Given the description of an element on the screen output the (x, y) to click on. 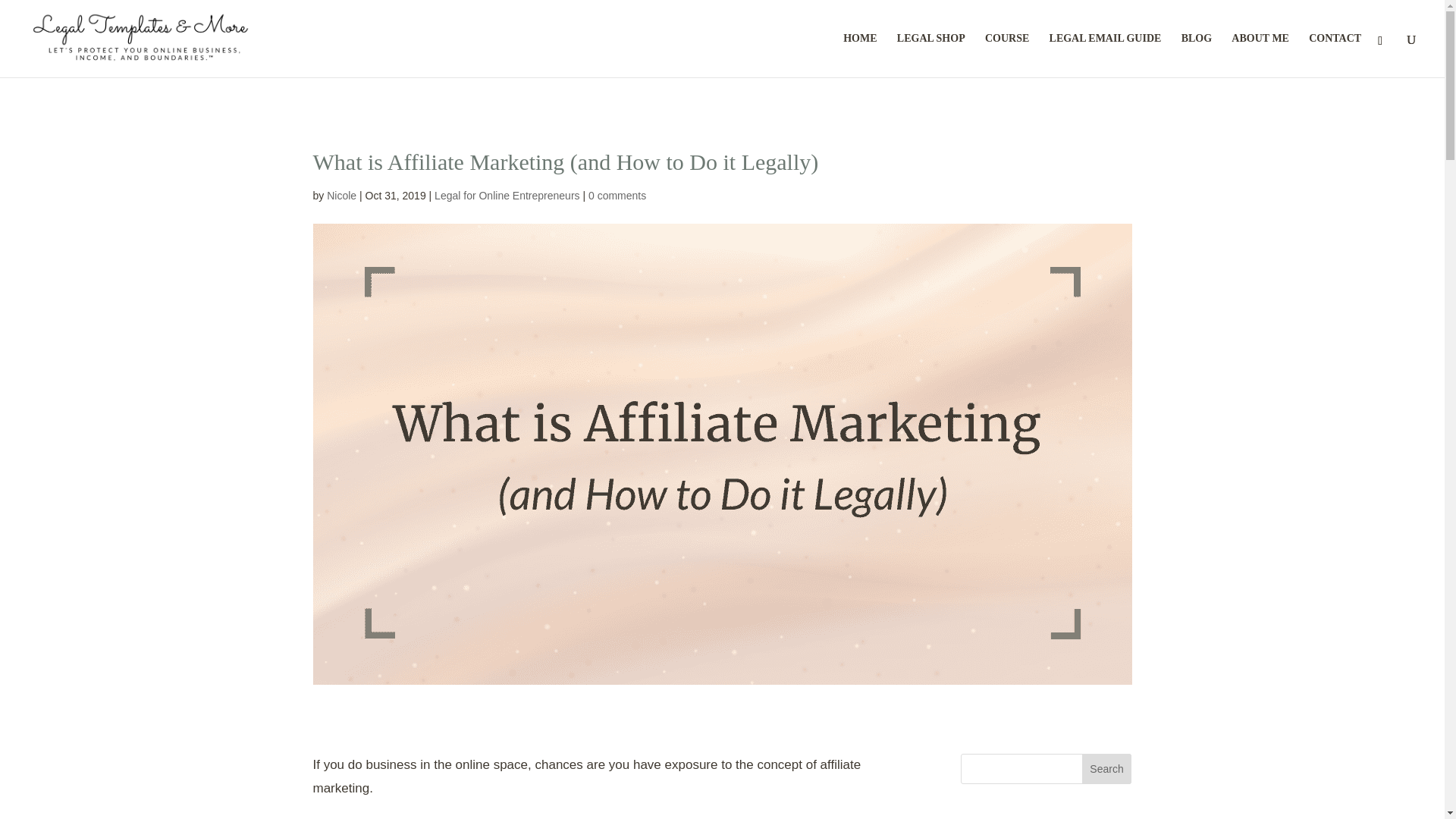
ABOUT ME (1259, 54)
Search (1106, 768)
Search (1106, 768)
LEGAL SHOP (930, 54)
CONTACT (1334, 54)
Nicole (341, 195)
LEGAL EMAIL GUIDE (1105, 54)
COURSE (1007, 54)
0 comments (617, 195)
Posts by Nicole (341, 195)
